Given the description of an element on the screen output the (x, y) to click on. 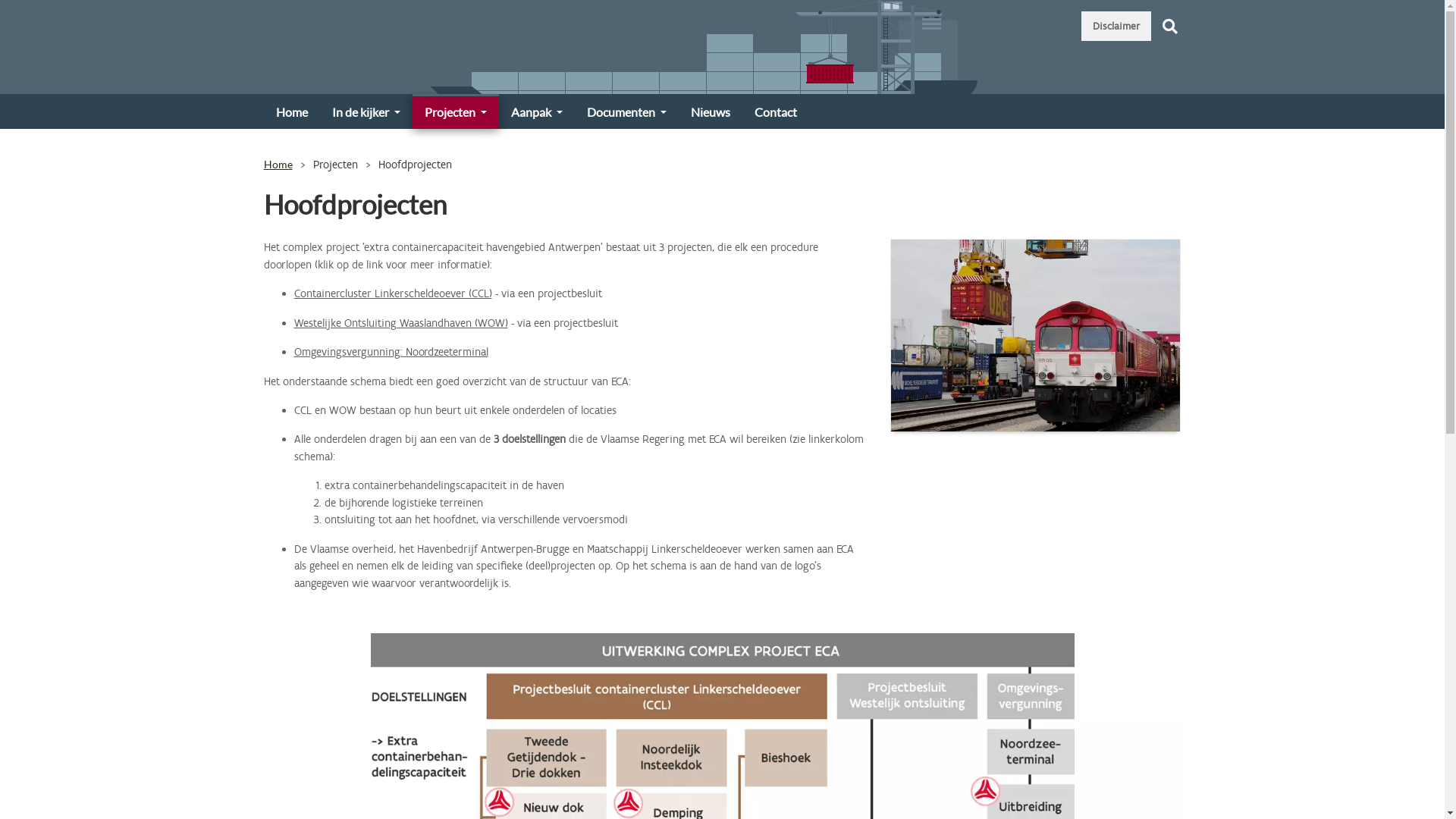
In de kijker Element type: text (366, 111)
Home Element type: text (277, 164)
Aanpak Element type: text (536, 111)
Westelijke Ontsluiting Waaslandhaven (WOW) Element type: text (401, 322)
Disclaimer Element type: text (1115, 25)
Projecten Element type: text (455, 111)
Contact Element type: text (775, 111)
Documenten Element type: text (626, 111)
Containercluster Linkerscheldeoever (CCL) Element type: text (393, 293)
Home Element type: text (291, 111)
Naar de inhoud Element type: text (0, 0)
Nieuws Element type: text (710, 111)
